Given the description of an element on the screen output the (x, y) to click on. 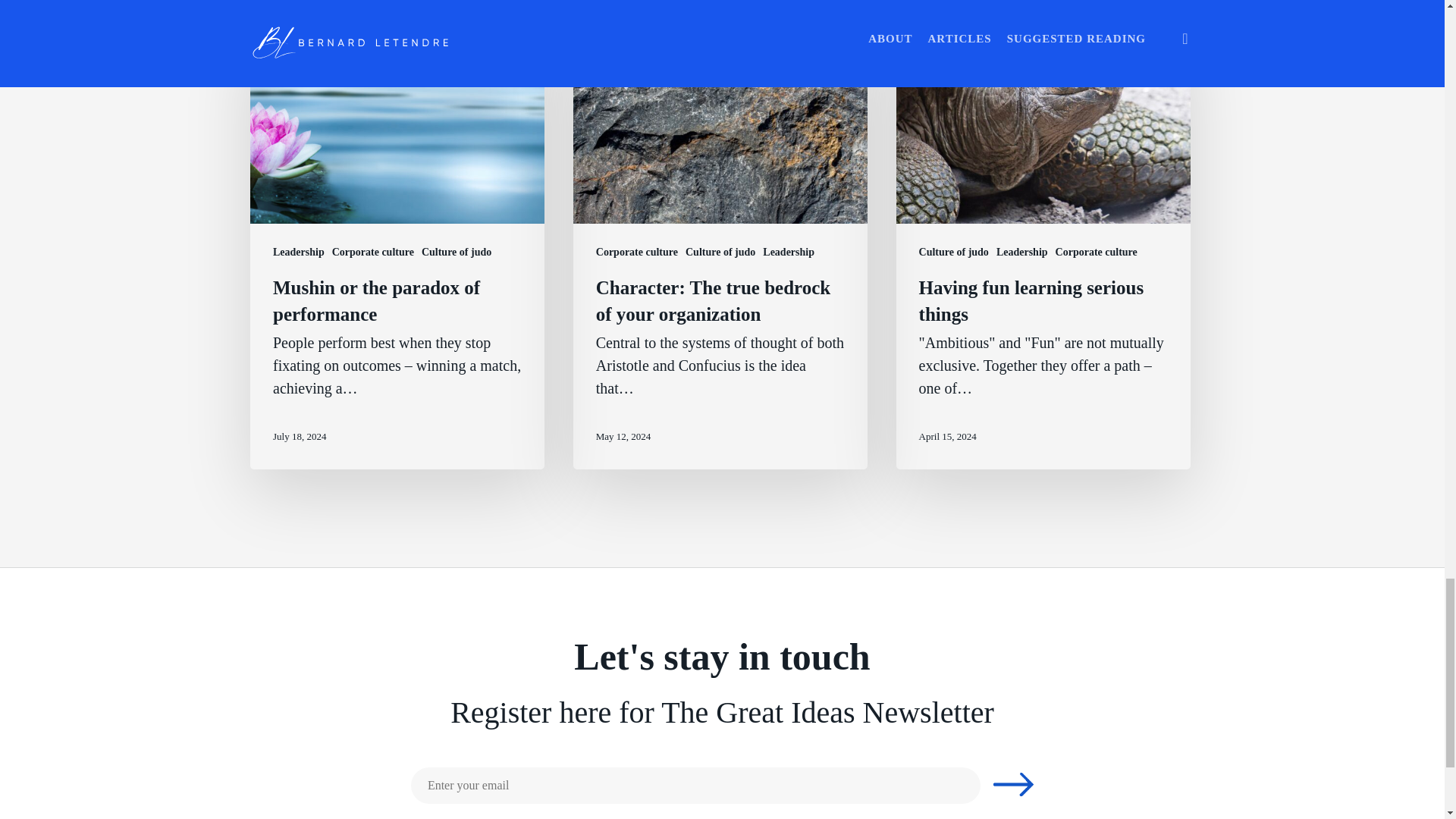
Culture of judo (457, 251)
Leadership (298, 251)
Corporate culture (372, 251)
Corporate culture (636, 251)
